Given the description of an element on the screen output the (x, y) to click on. 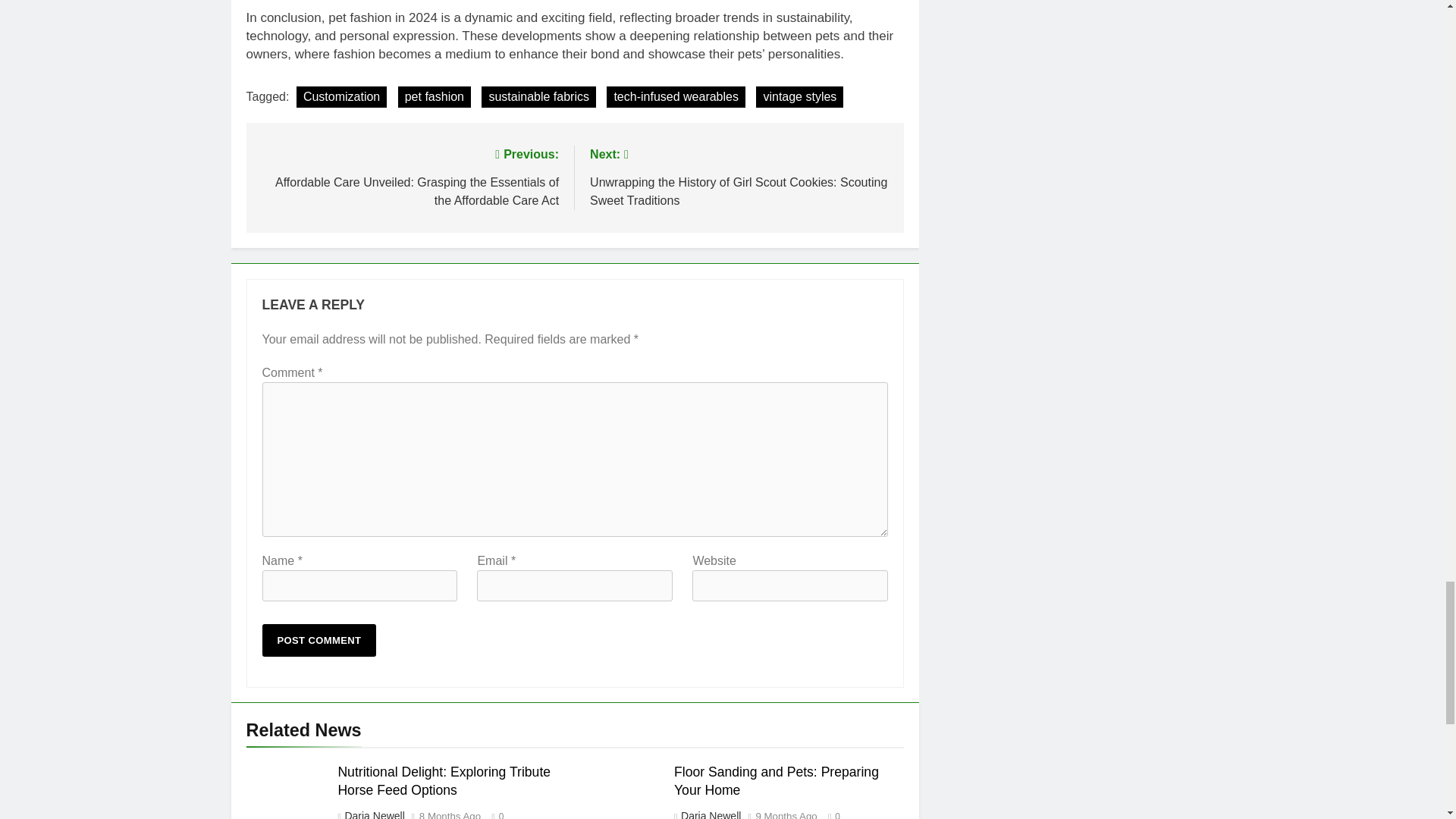
vintage styles (799, 96)
tech-infused wearables (676, 96)
Post Comment (319, 640)
Customization (342, 96)
sustainable fabrics (538, 96)
pet fashion (433, 96)
